Given the description of an element on the screen output the (x, y) to click on. 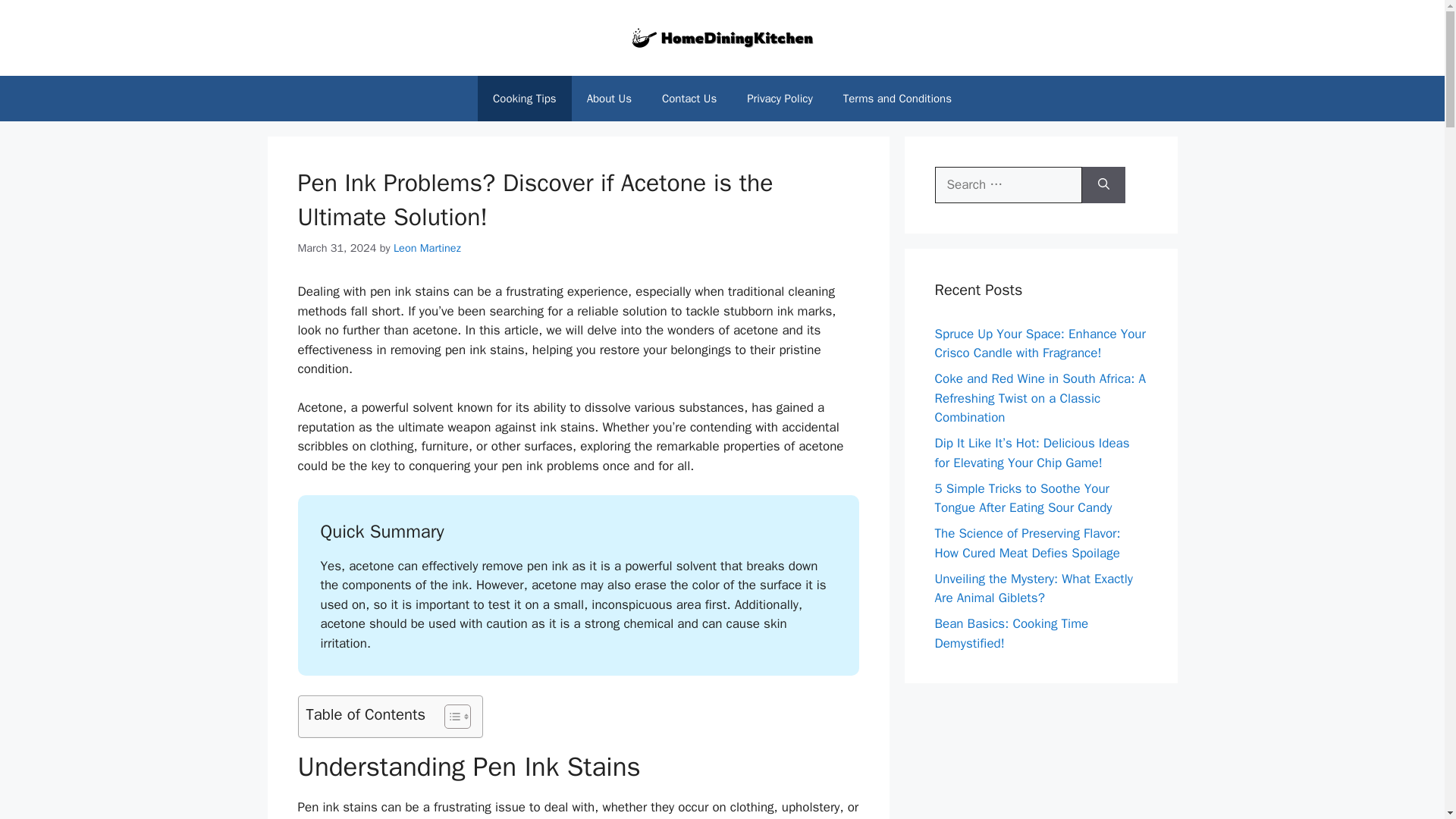
About Us (609, 98)
Bean Basics: Cooking Time Demystified! (1010, 633)
View all posts by Leon Martinez (427, 247)
Terms and Conditions (897, 98)
Leon Martinez (427, 247)
Contact Us (689, 98)
Cooking Tips (524, 98)
Unveiling the Mystery: What Exactly Are Animal Giblets? (1033, 588)
Privacy Policy (780, 98)
